Given the description of an element on the screen output the (x, y) to click on. 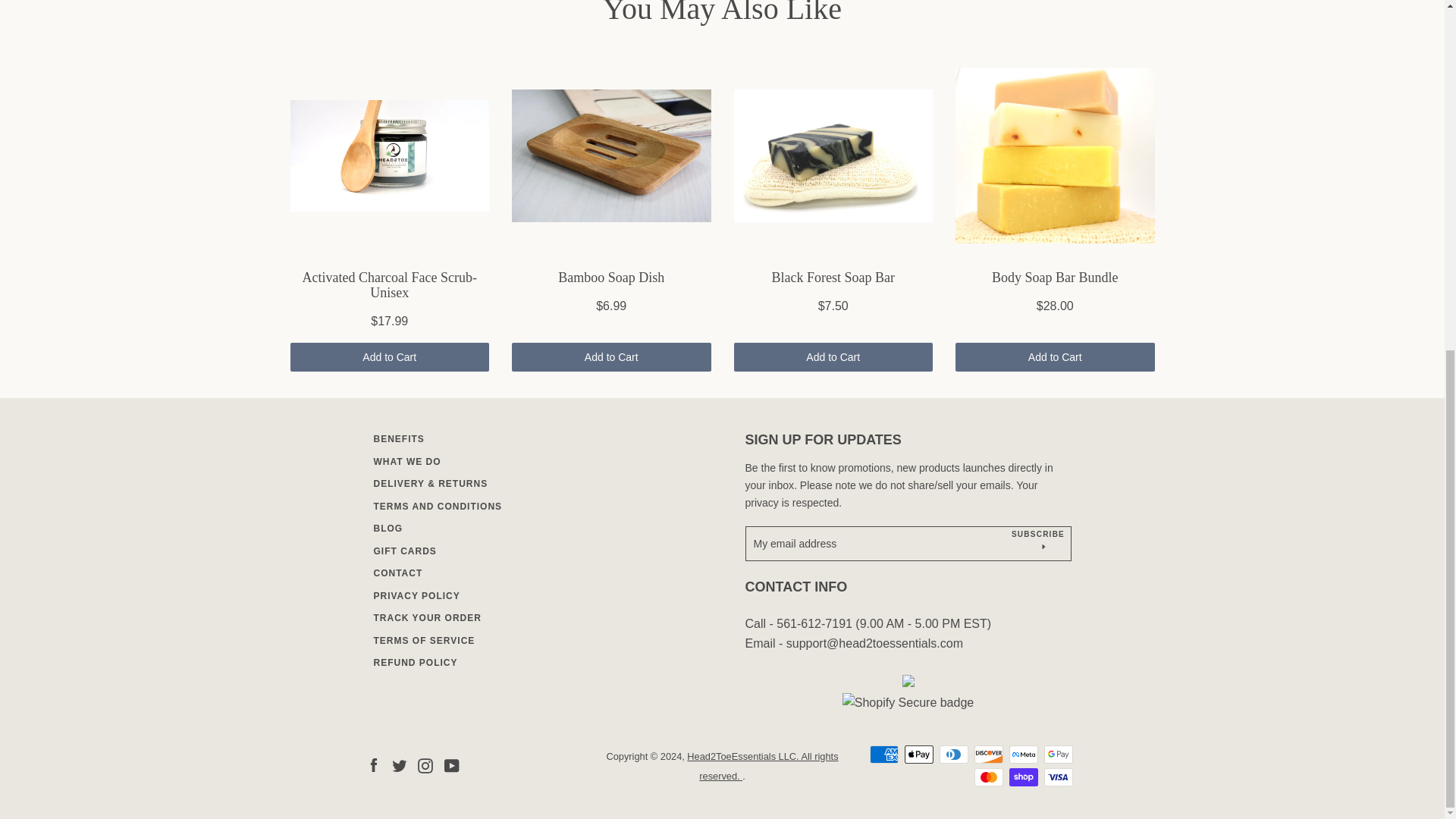
Google Pay (1057, 754)
Diners Club (953, 754)
Apple Pay (918, 754)
American Express (883, 754)
Visa (1057, 777)
Mastercard (988, 777)
Shop Pay (1022, 777)
Head2ToeEssentials  on Twitter (399, 765)
Head2ToeEssentials  on Instagram (424, 765)
Meta Pay (1022, 754)
Discover (988, 754)
Head2ToeEssentials  on Facebook (372, 765)
Head2ToeEssentials  on YouTube (452, 765)
